Given the description of an element on the screen output the (x, y) to click on. 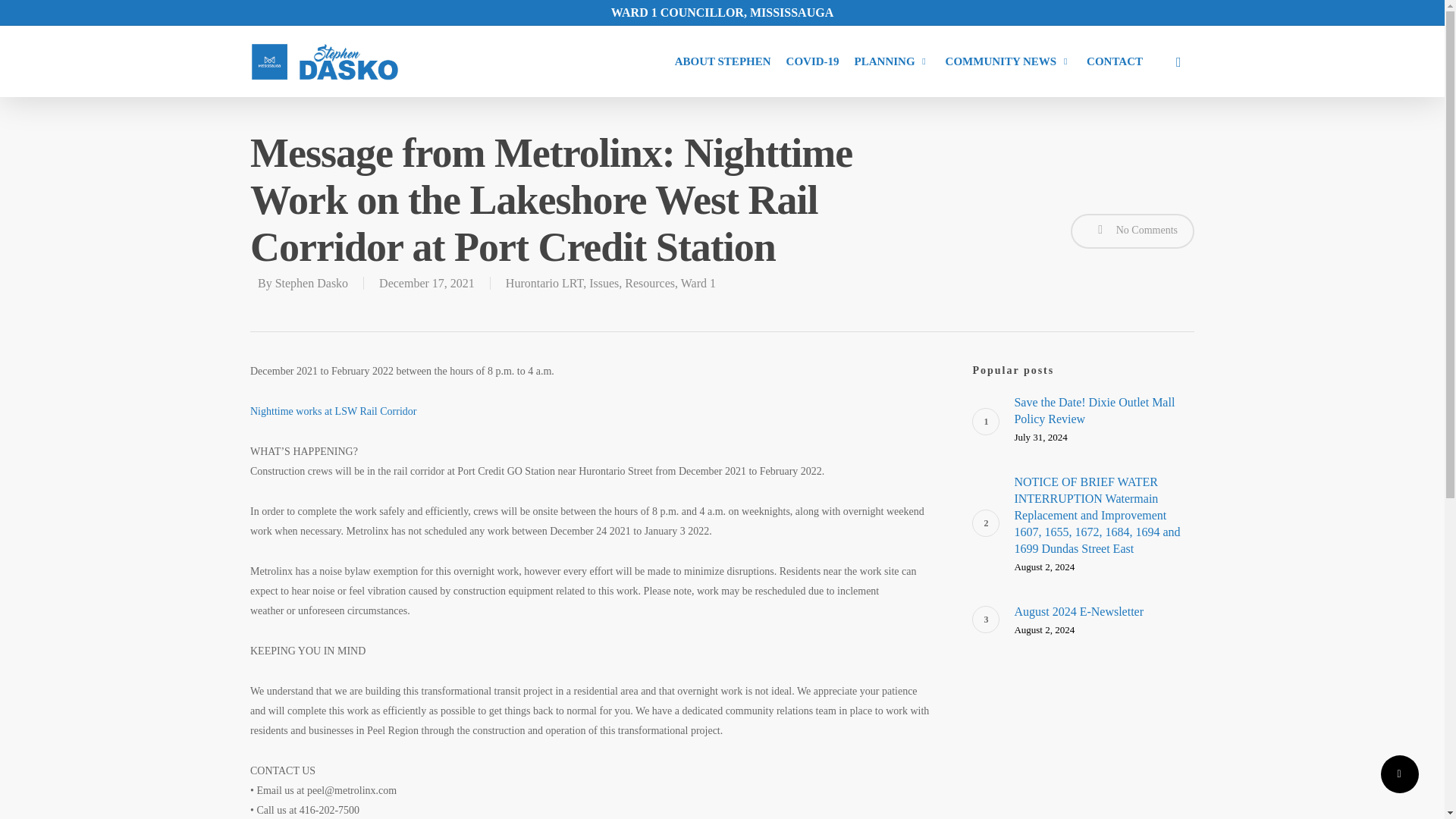
COVID-19 (812, 61)
Resources (649, 282)
Hurontario LRT (544, 282)
ABOUT STEPHEN (1103, 418)
Stephen Dasko (722, 61)
COMMUNITY NEWS (311, 282)
Ward 1 (1008, 61)
No Comments (698, 282)
